Given the description of an element on the screen output the (x, y) to click on. 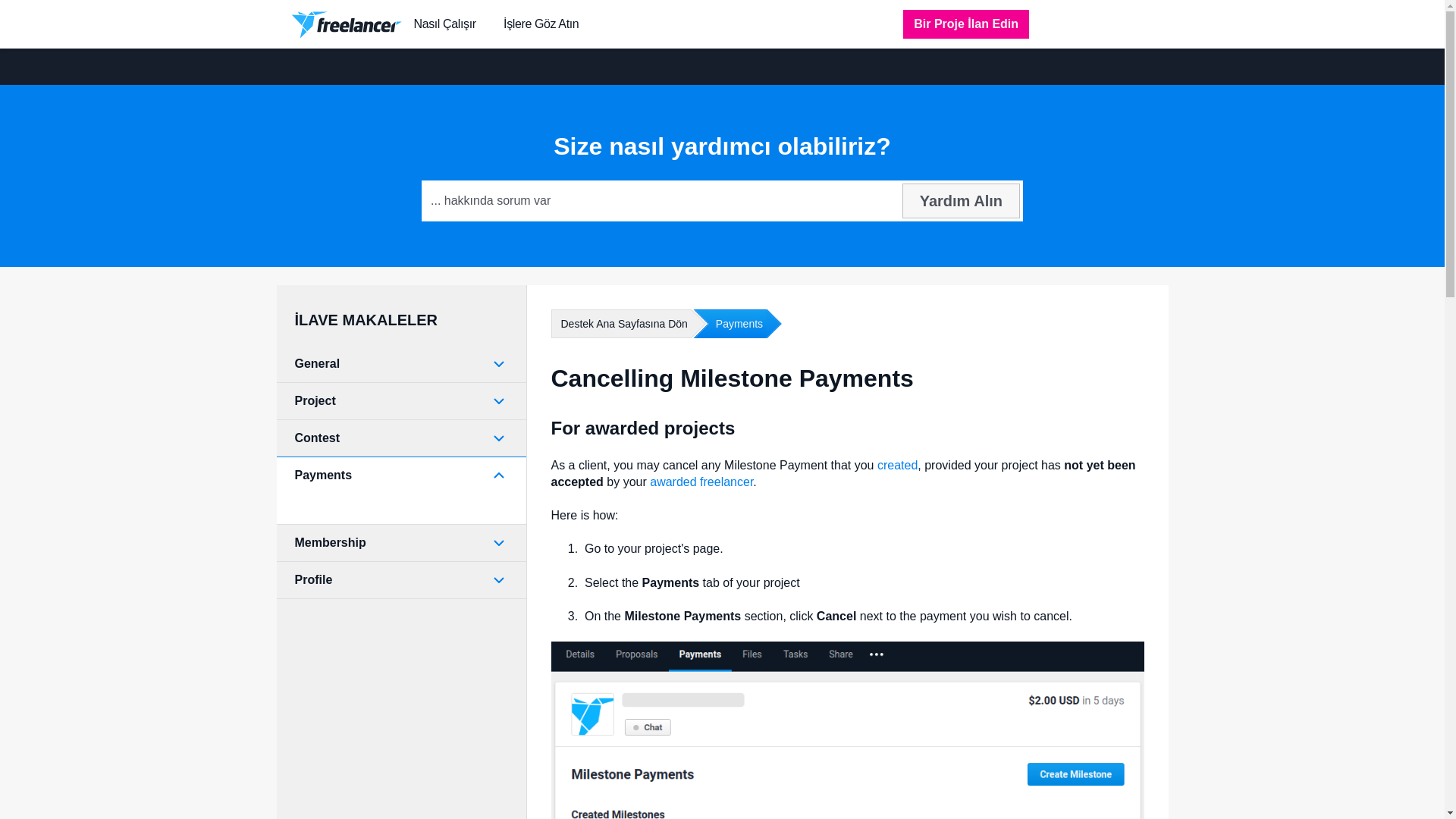
created (897, 464)
Payments (727, 323)
Contest (400, 438)
Payments (400, 475)
General (400, 363)
Membership (400, 542)
Project (400, 401)
Creating Milestone Payments (897, 464)
Awarding projects (700, 481)
Profile (400, 579)
